Given the description of an element on the screen output the (x, y) to click on. 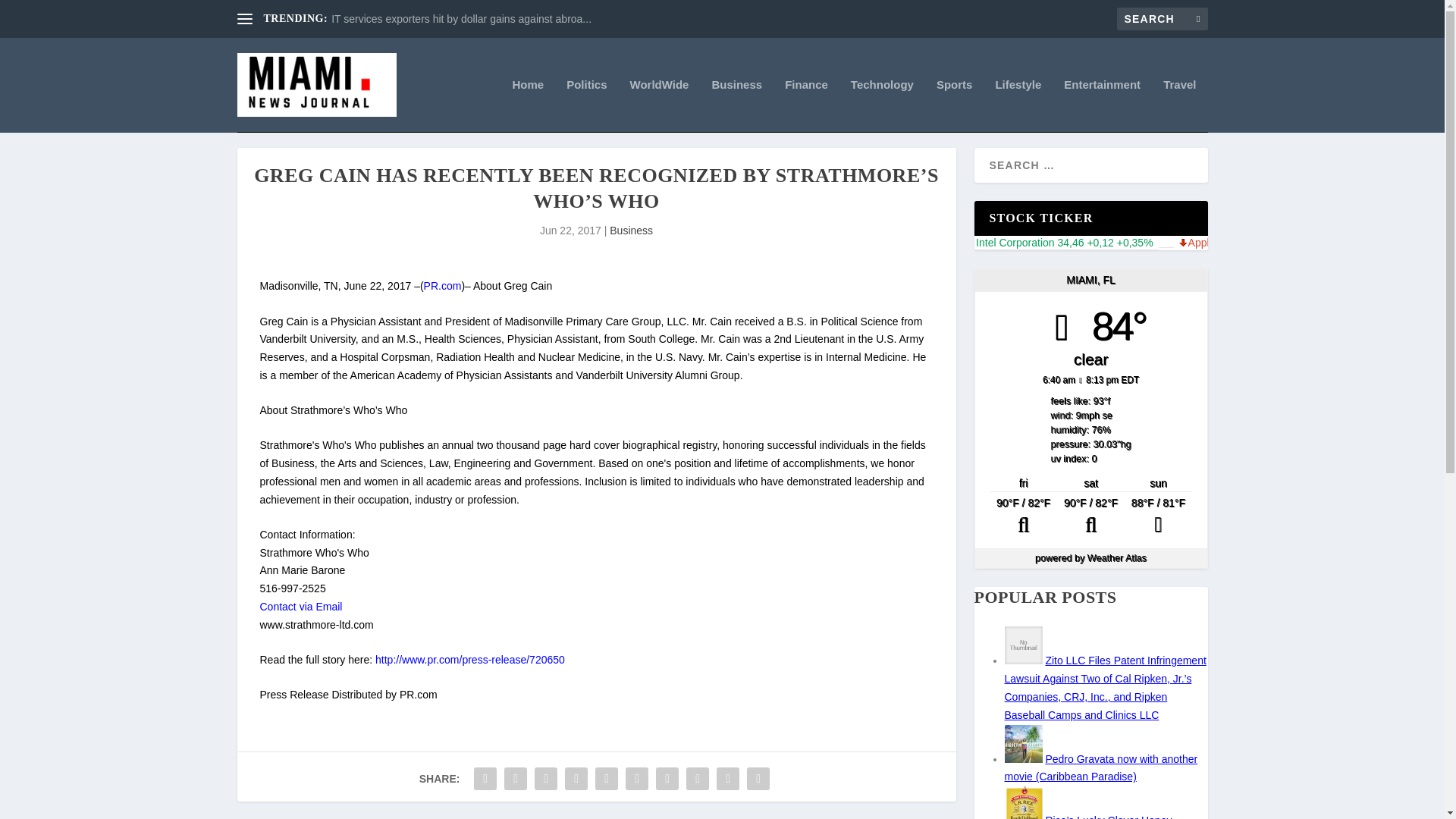
Business (631, 230)
Entertainment (1102, 104)
PR.com (442, 285)
Technology (882, 104)
Business (736, 104)
WorldWide (659, 104)
Search for: (1161, 18)
IT services exporters hit by dollar gains against abroa... (461, 19)
Contact via Email (300, 606)
